Given the description of an element on the screen output the (x, y) to click on. 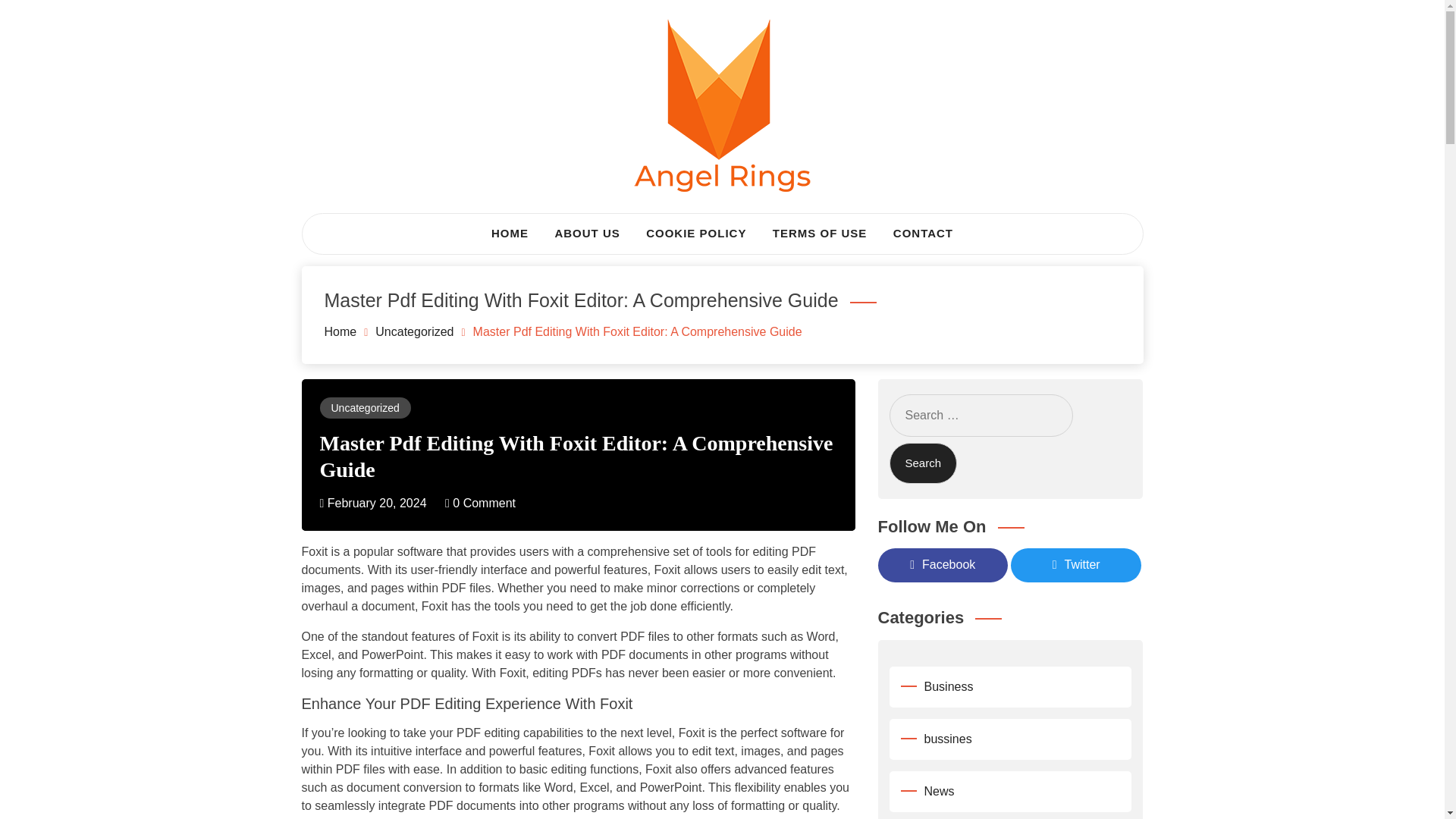
HOME (510, 233)
Angel Rings (396, 231)
TERMS OF USE (820, 233)
Search (922, 463)
Master Pdf Editing With Foxit Editor: A Comprehensive Guide (576, 455)
COOKIE POLICY (695, 233)
editor pdf Foxit (794, 818)
Home (340, 330)
CONTACT (922, 233)
0 Comment (480, 502)
